Given the description of an element on the screen output the (x, y) to click on. 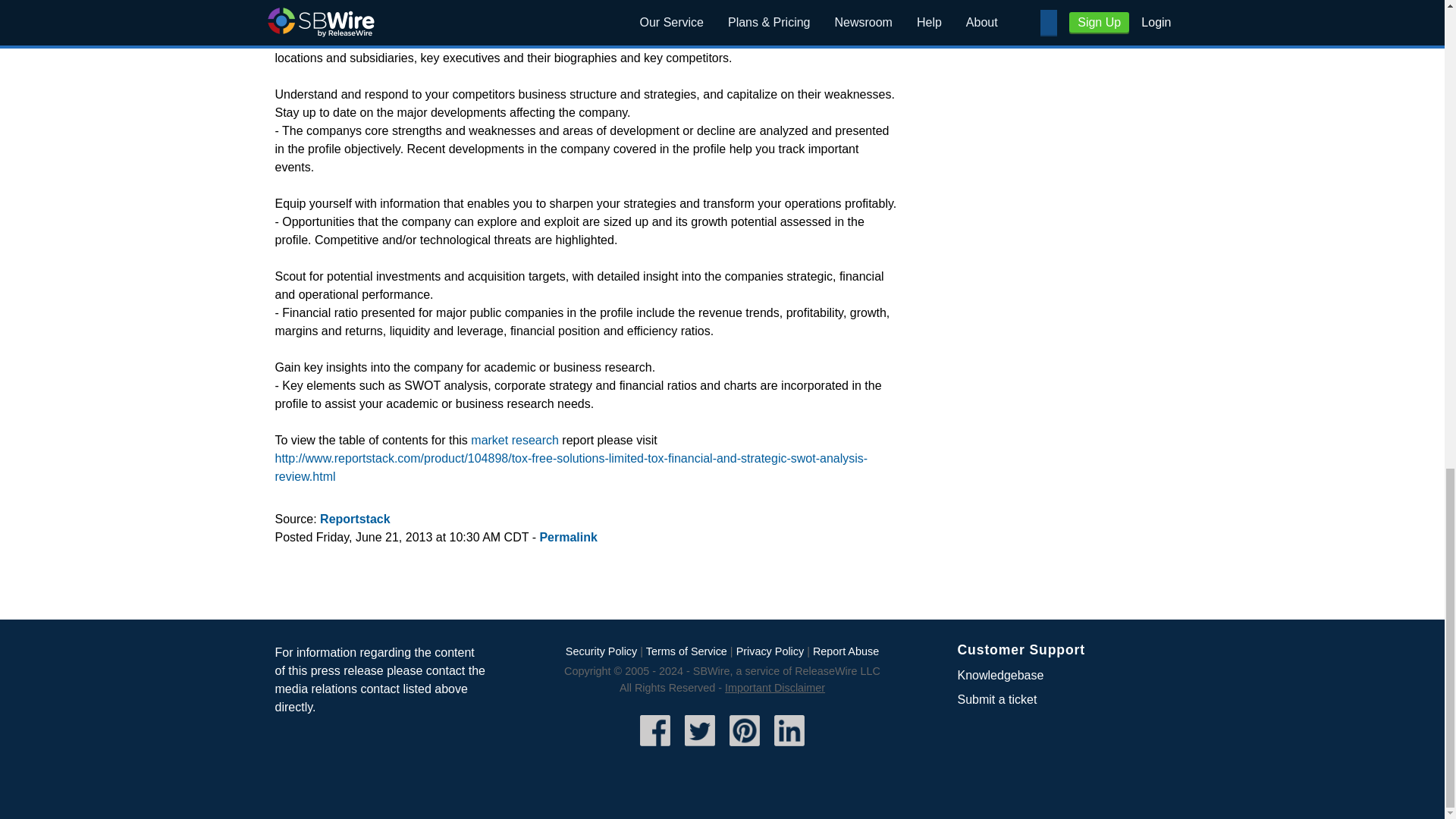
market research (514, 440)
Visit SBWire on Pinterest (744, 747)
Security Policy (601, 651)
Follow SBWire on Twitter (699, 747)
Report Abuse (845, 651)
Follow SBWire on LinkedIn (788, 747)
Privacy Policy (770, 651)
market research (514, 440)
Find SBWire on Facebook (655, 747)
Terms of Service (686, 651)
Important Disclaimer (775, 687)
Permalink (567, 536)
Reportstack (355, 518)
